Given the description of an element on the screen output the (x, y) to click on. 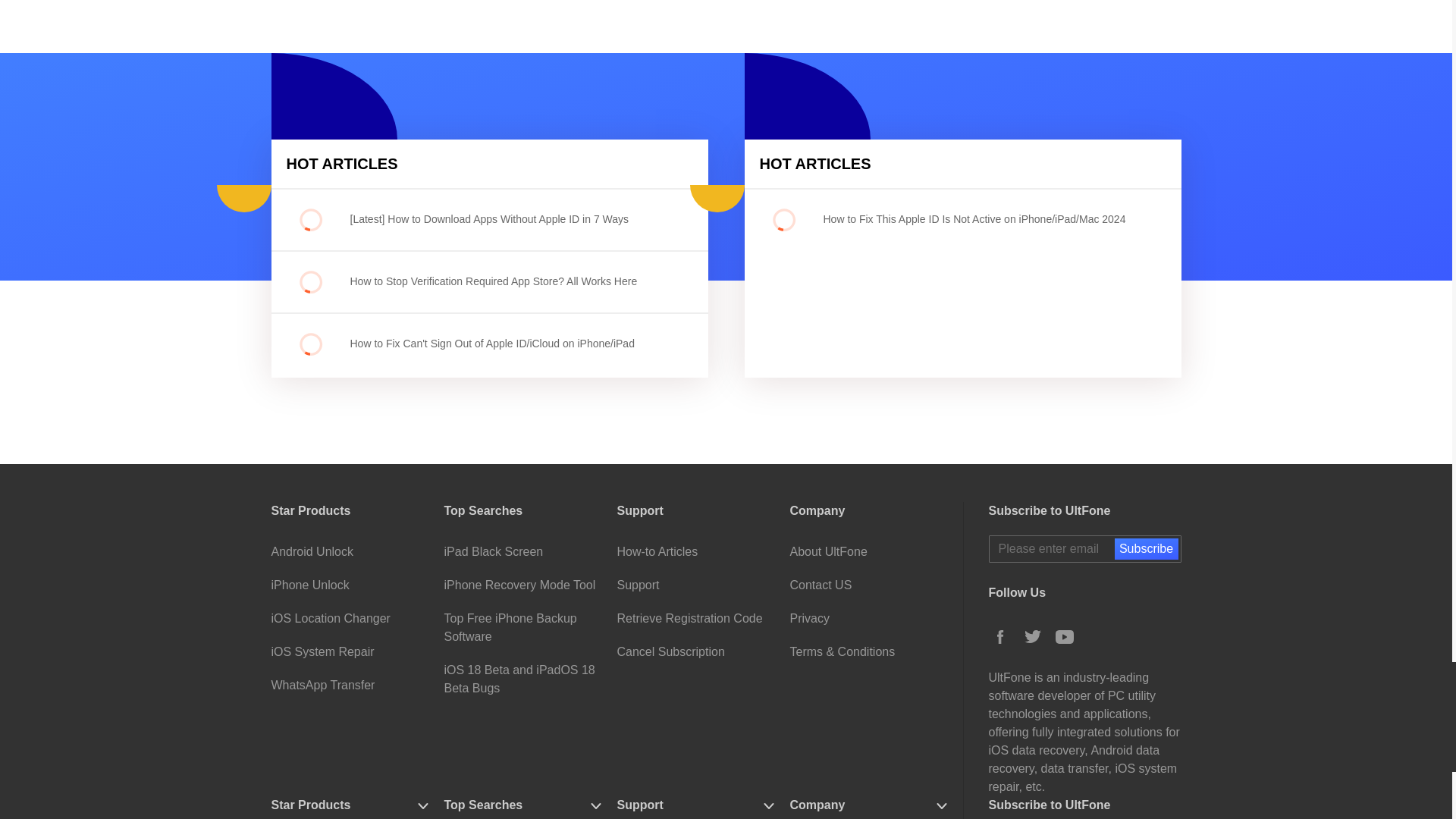
How to Stop Verification Required App Store? All Works Here (497, 281)
